Given the description of an element on the screen output the (x, y) to click on. 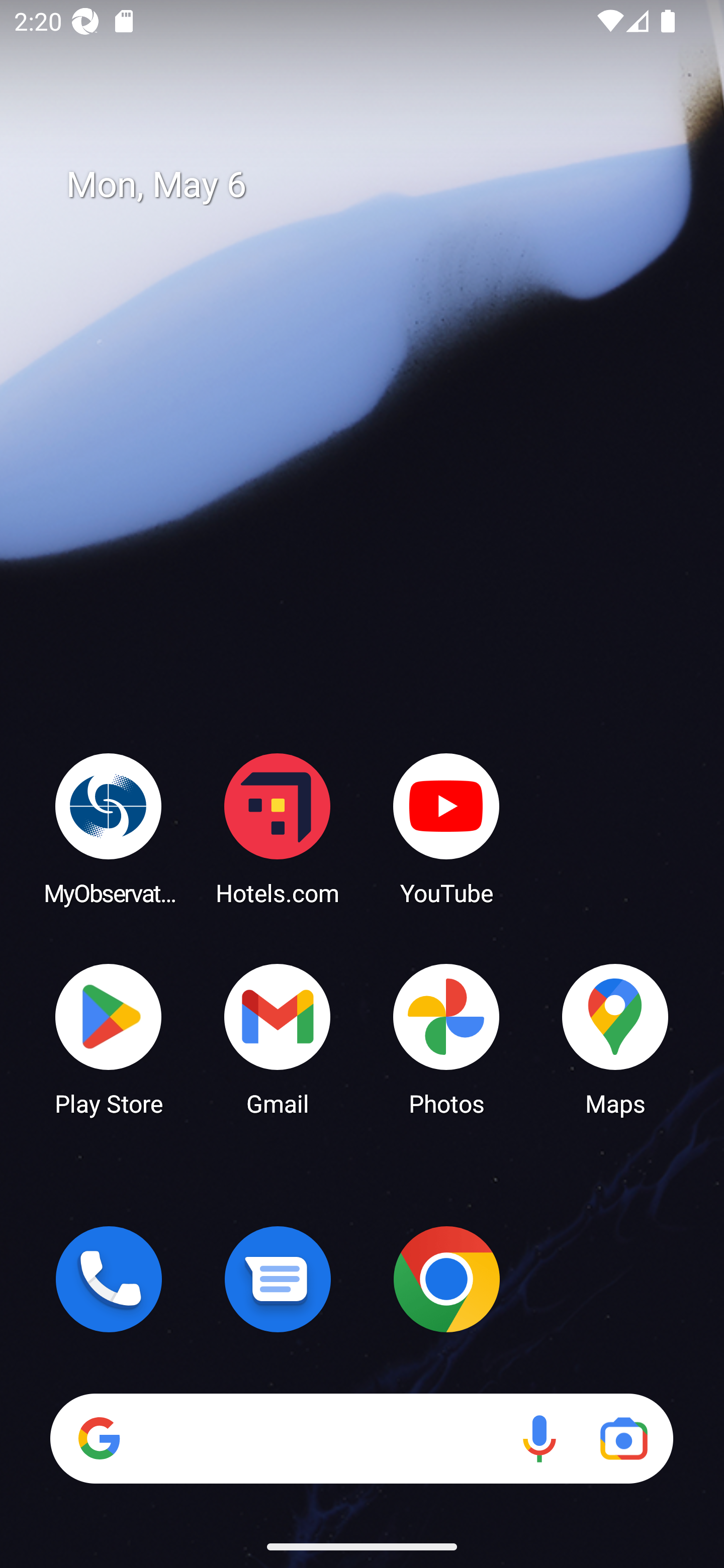
Mon, May 6 (375, 184)
MyObservatory (108, 828)
Hotels.com (277, 828)
YouTube (445, 828)
Play Store (108, 1038)
Gmail (277, 1038)
Photos (445, 1038)
Maps (615, 1038)
Phone (108, 1279)
Messages (277, 1279)
Chrome (446, 1279)
Search Voice search Google Lens (361, 1438)
Voice search (539, 1438)
Google Lens (623, 1438)
